Given the description of an element on the screen output the (x, y) to click on. 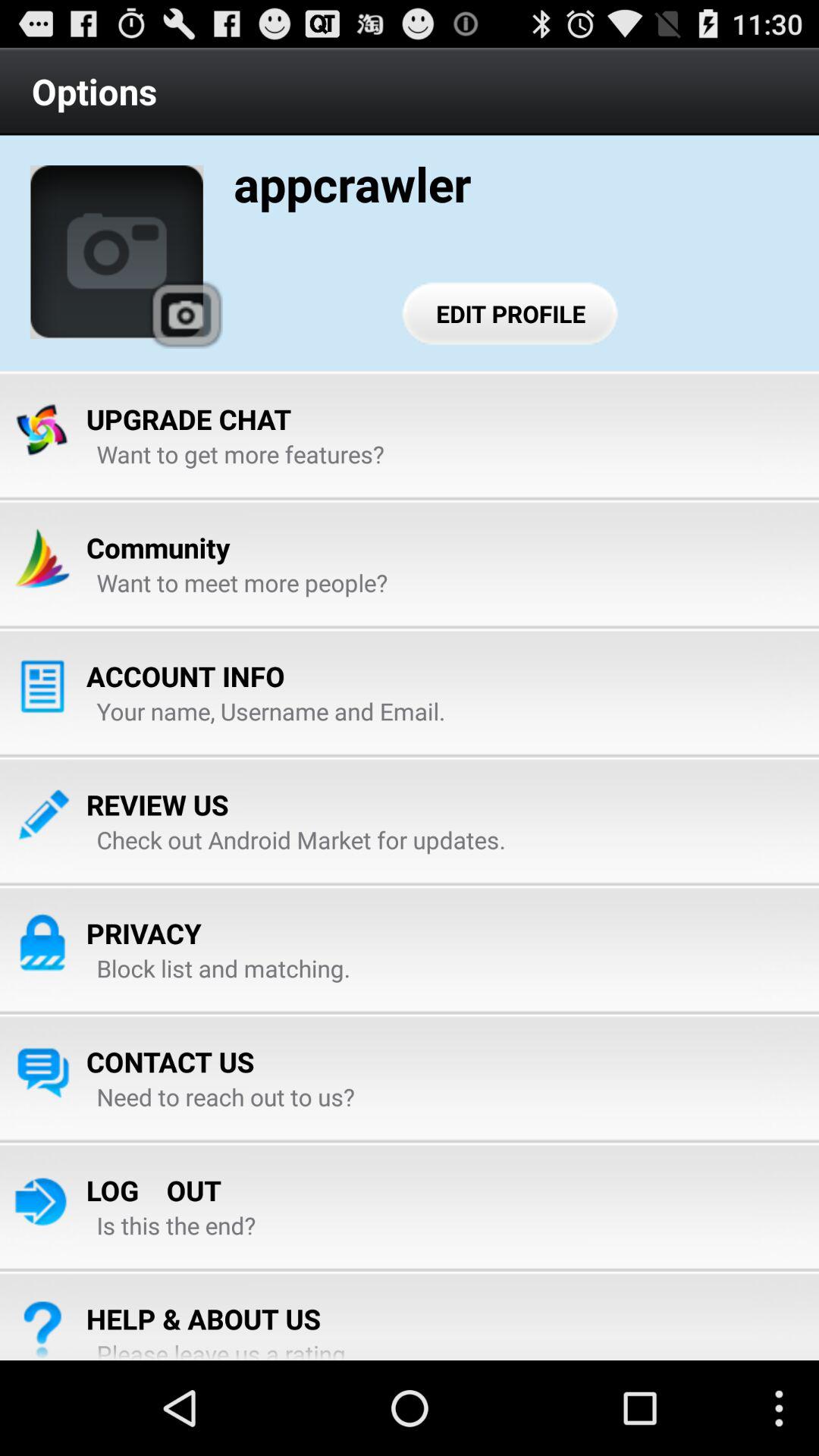
tap the icon above the is this the icon (153, 1190)
